Given the description of an element on the screen output the (x, y) to click on. 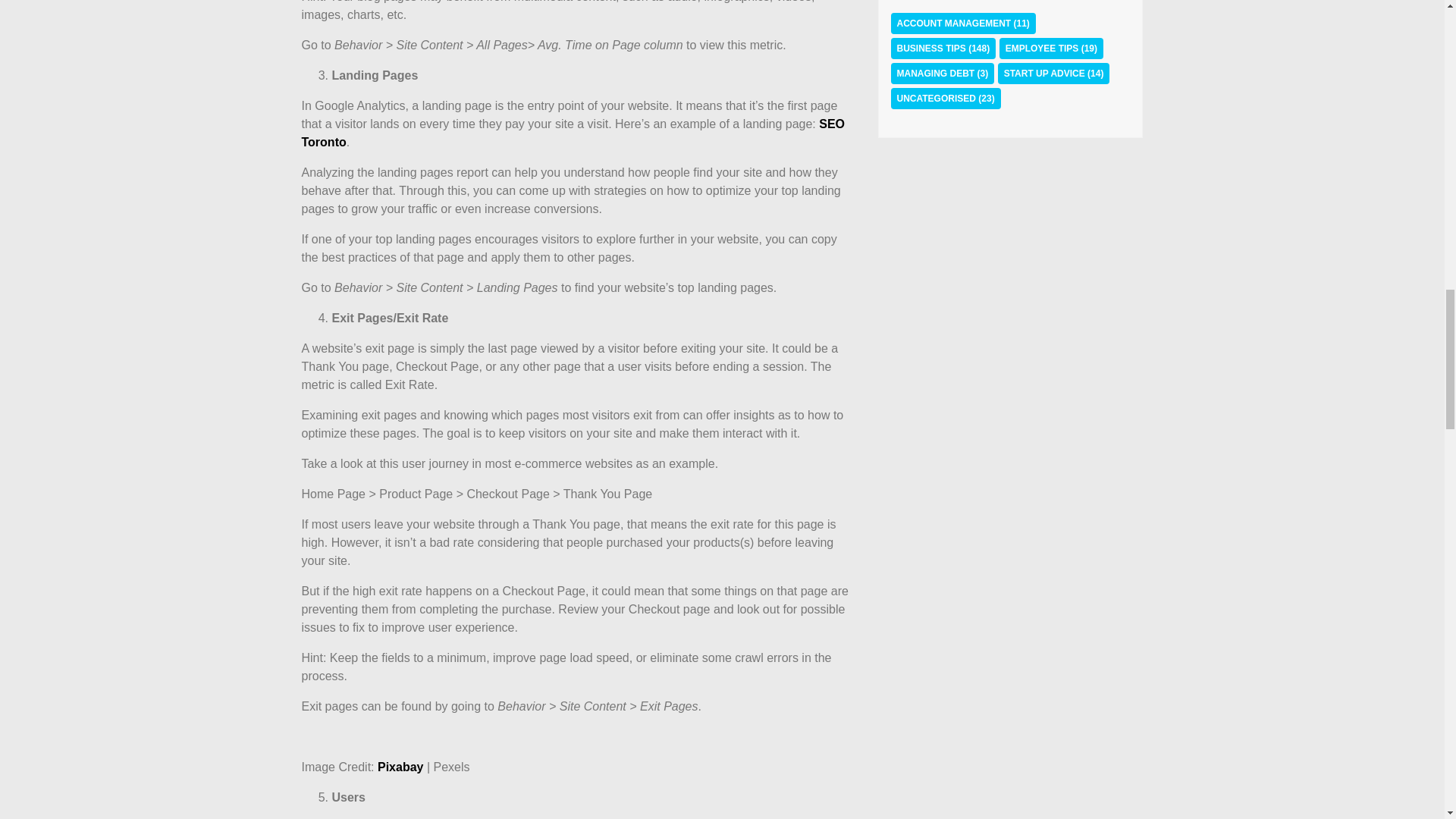
SEO Toronto (573, 132)
UNCATEGORISED (935, 98)
START UP ADVICE (1044, 72)
BUSINESS TIPS (930, 48)
EMPLOYEE TIPS (1042, 48)
Pixabay (400, 766)
ACCOUNT MANAGEMENT (953, 23)
MANAGING DEBT (935, 72)
